Given the description of an element on the screen output the (x, y) to click on. 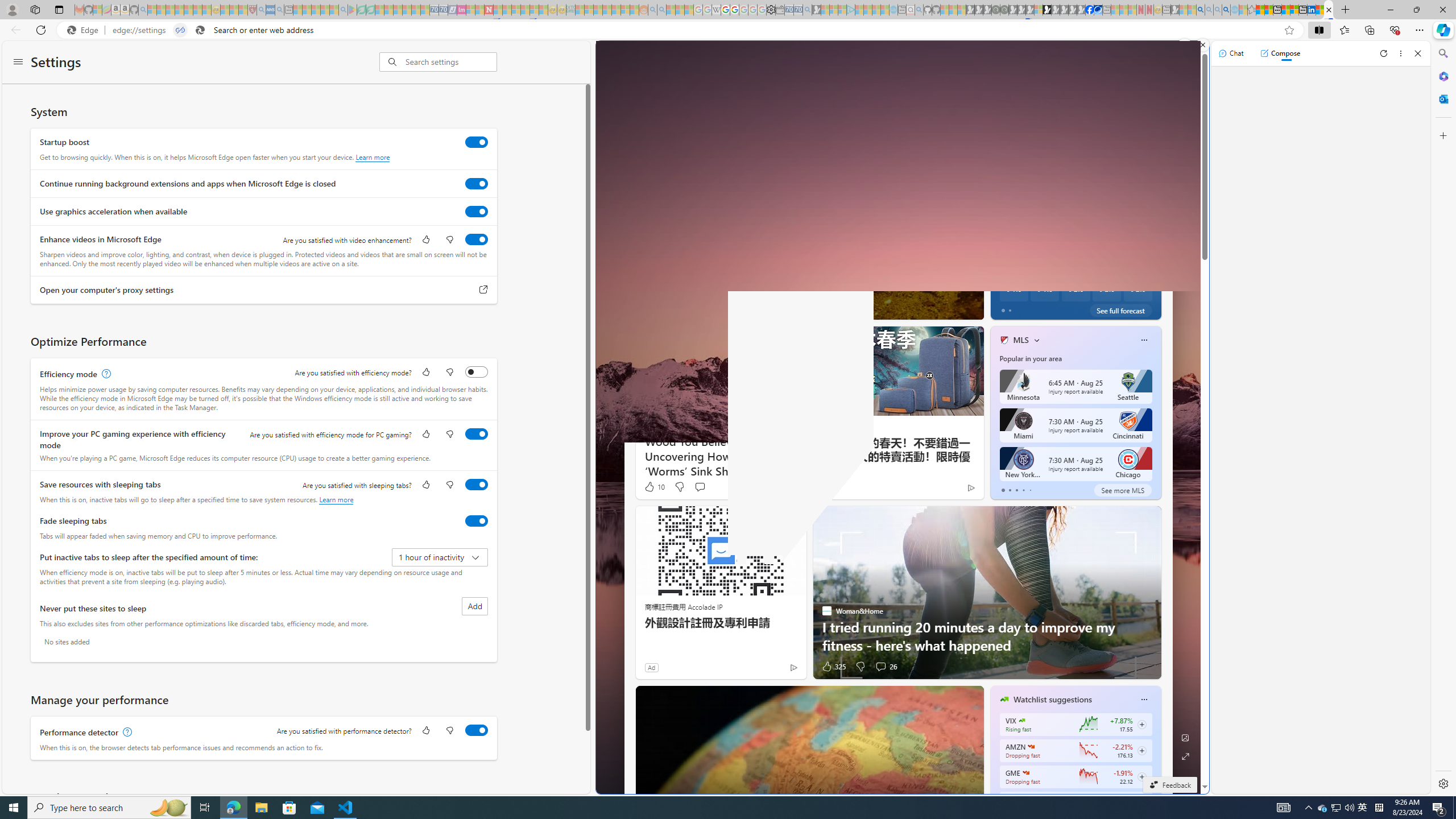
207 Like (1007, 307)
tab-2 (1016, 489)
Aberdeen, Hong Kong SAR weather forecast | Microsoft Weather (1268, 9)
